Given the description of an element on the screen output the (x, y) to click on. 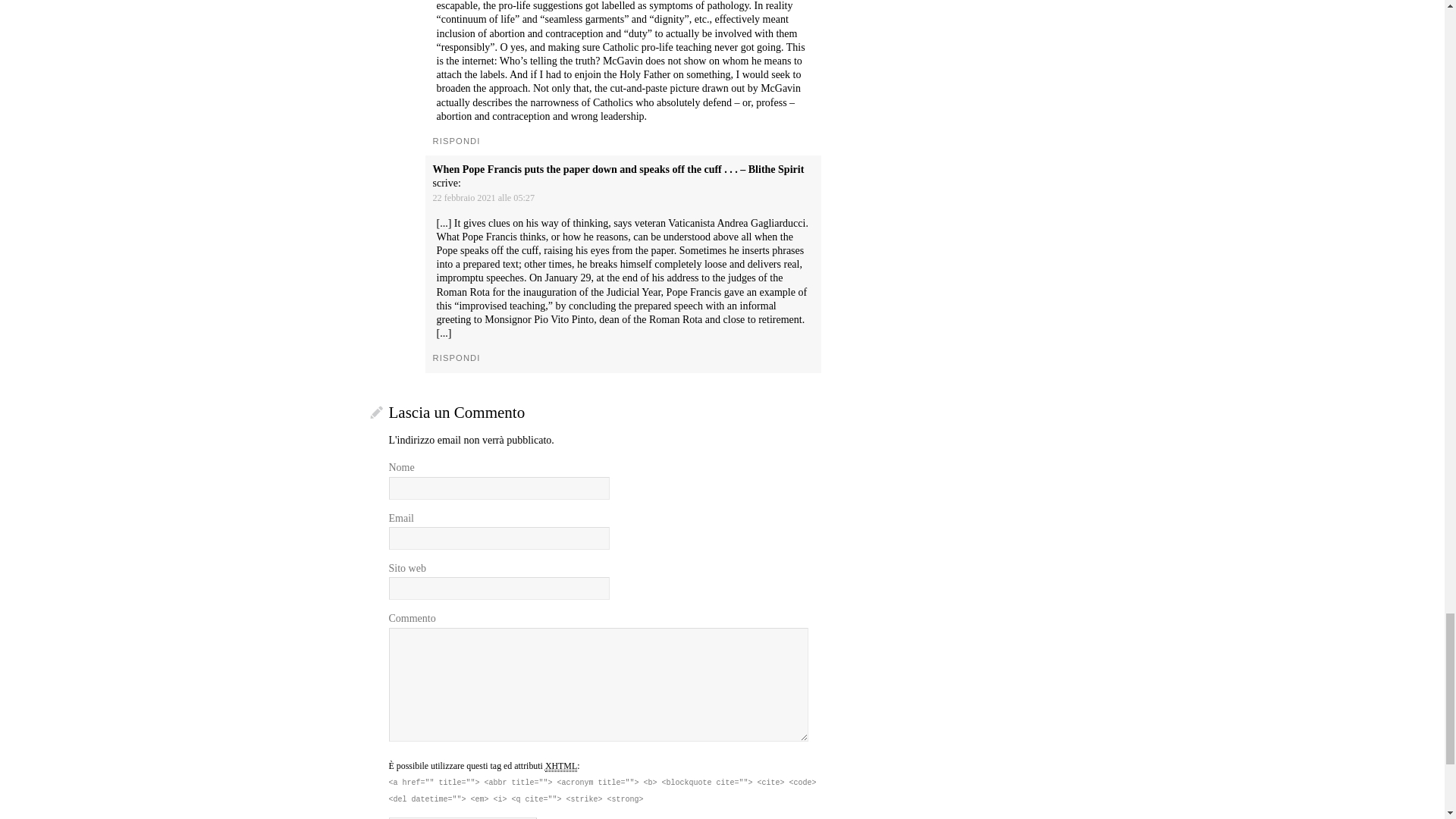
RISPONDI (456, 357)
eXtensible HyperText Markup Language (560, 766)
RISPONDI (456, 140)
22 febbraio 2021 alle 05:27 (483, 197)
